Given the description of an element on the screen output the (x, y) to click on. 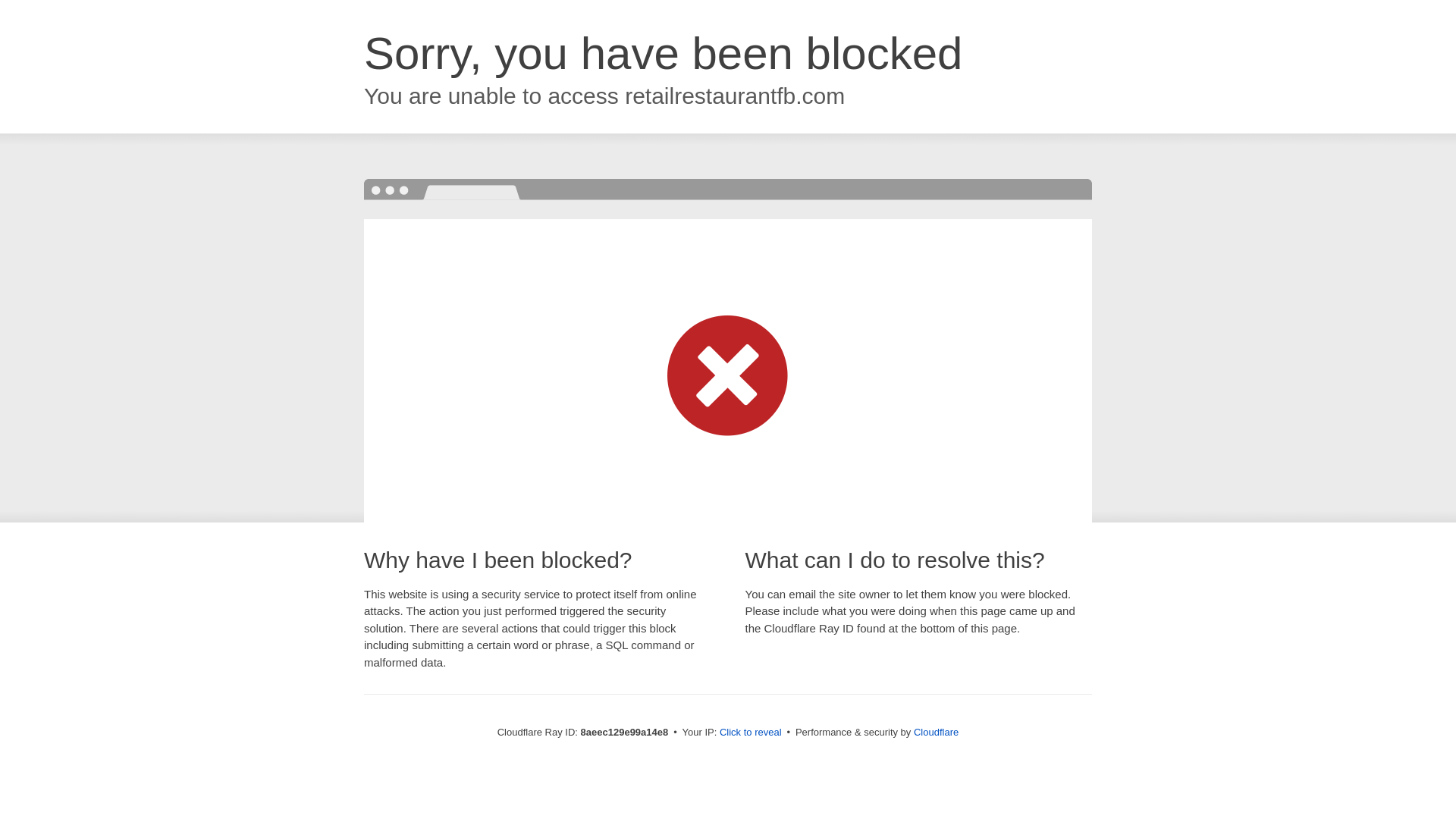
Click to reveal (750, 732)
Cloudflare (936, 731)
